Given the description of an element on the screen output the (x, y) to click on. 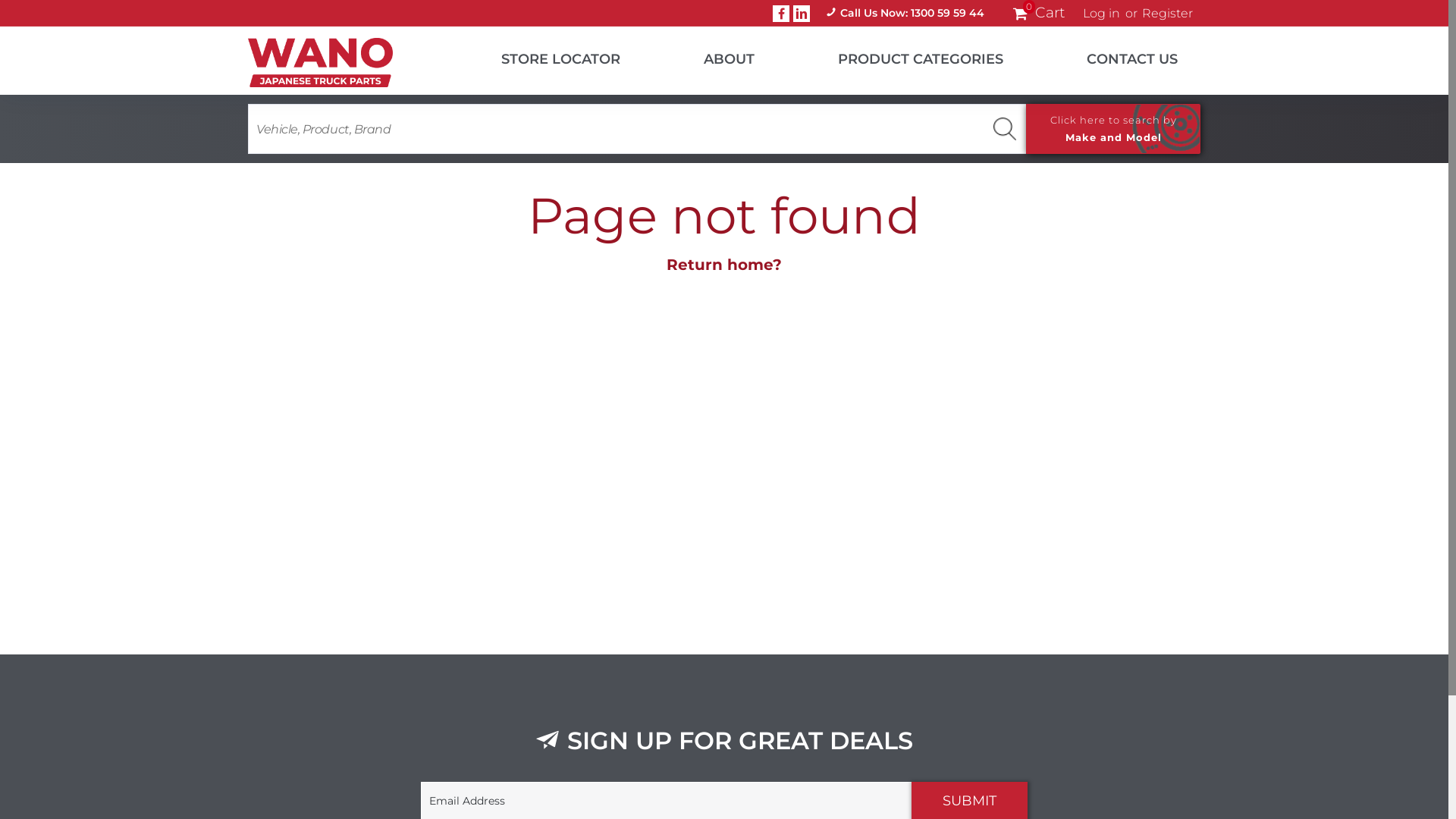
CONTACT US Element type: text (1113, 55)
Facebook Element type: hover (780, 12)
PRODUCT CATEGORIES Element type: text (901, 55)
Register Element type: text (1167, 13)
Log in Element type: text (1101, 13)
ABOUT Element type: text (710, 55)
LinkedIn Element type: hover (801, 12)
Click here to search by
Make and Model Element type: text (1113, 128)
Return home? Element type: text (723, 264)
Call Us Now: 1300 59 59 44 Element type: text (904, 13)
STORE LOCATOR Element type: text (541, 55)
